Given the description of an element on the screen output the (x, y) to click on. 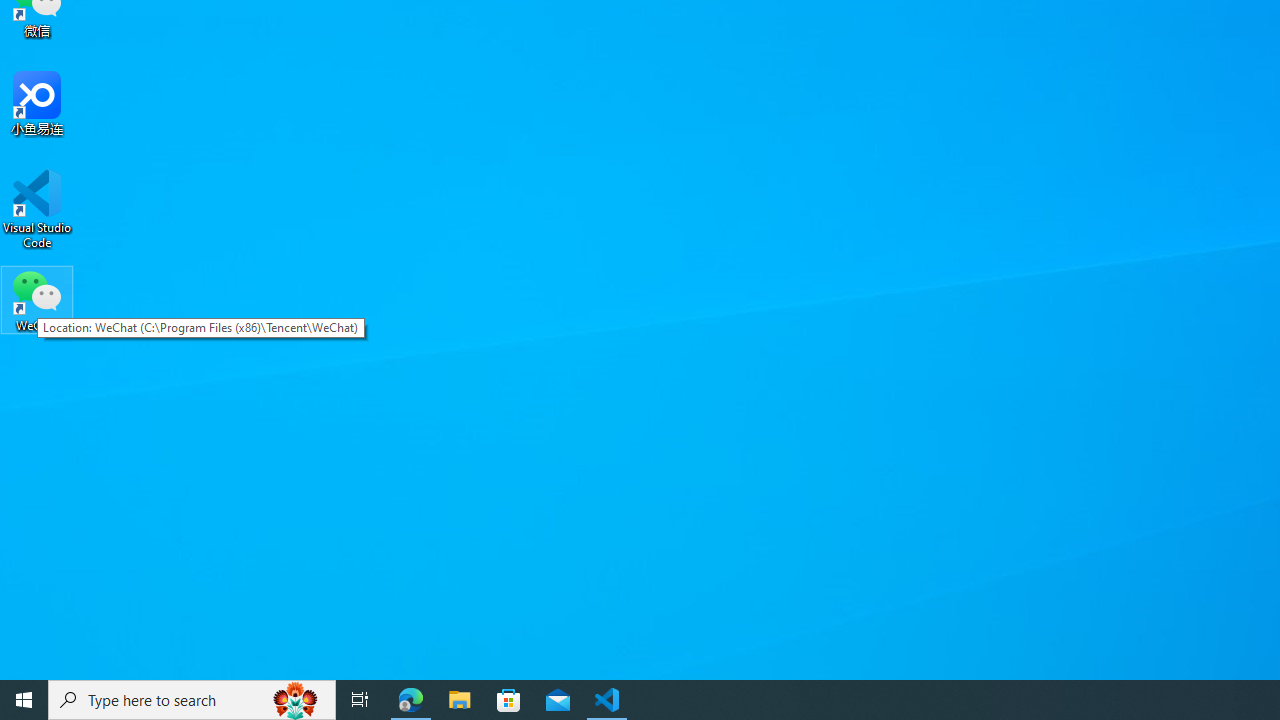
File Explorer (460, 699)
Microsoft Edge - 1 running window (411, 699)
Start (24, 699)
Search highlights icon opens search home window (295, 699)
WeChat (37, 299)
Type here to search (191, 699)
Microsoft Store (509, 699)
Visual Studio Code (37, 209)
Visual Studio Code - 1 running window (607, 699)
Task View (359, 699)
